Given the description of an element on the screen output the (x, y) to click on. 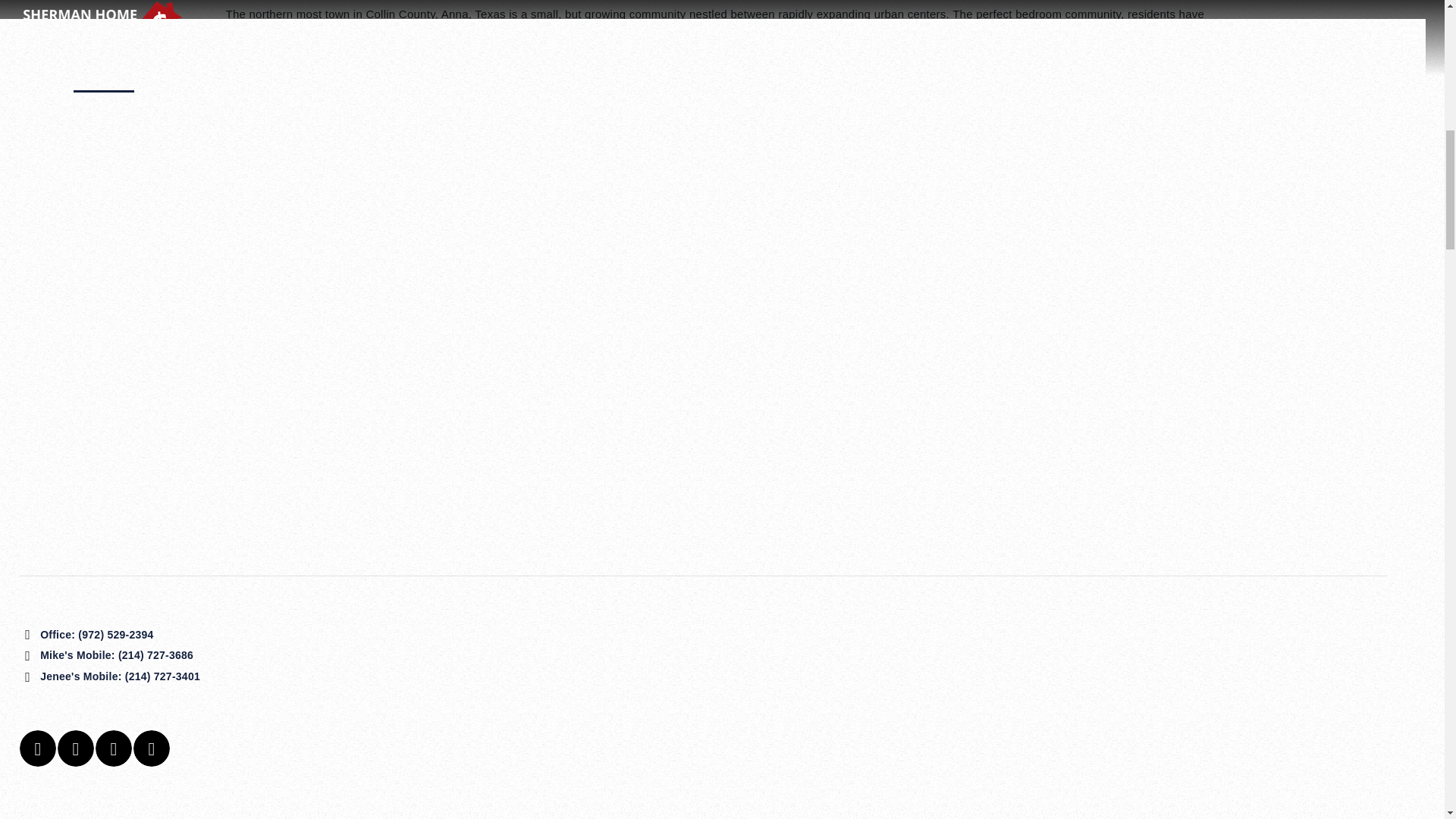
Why Anna, TX is Such a Good Place to Live (611, 140)
View current homes for sale in Anna (326, 140)
